Given the description of an element on the screen output the (x, y) to click on. 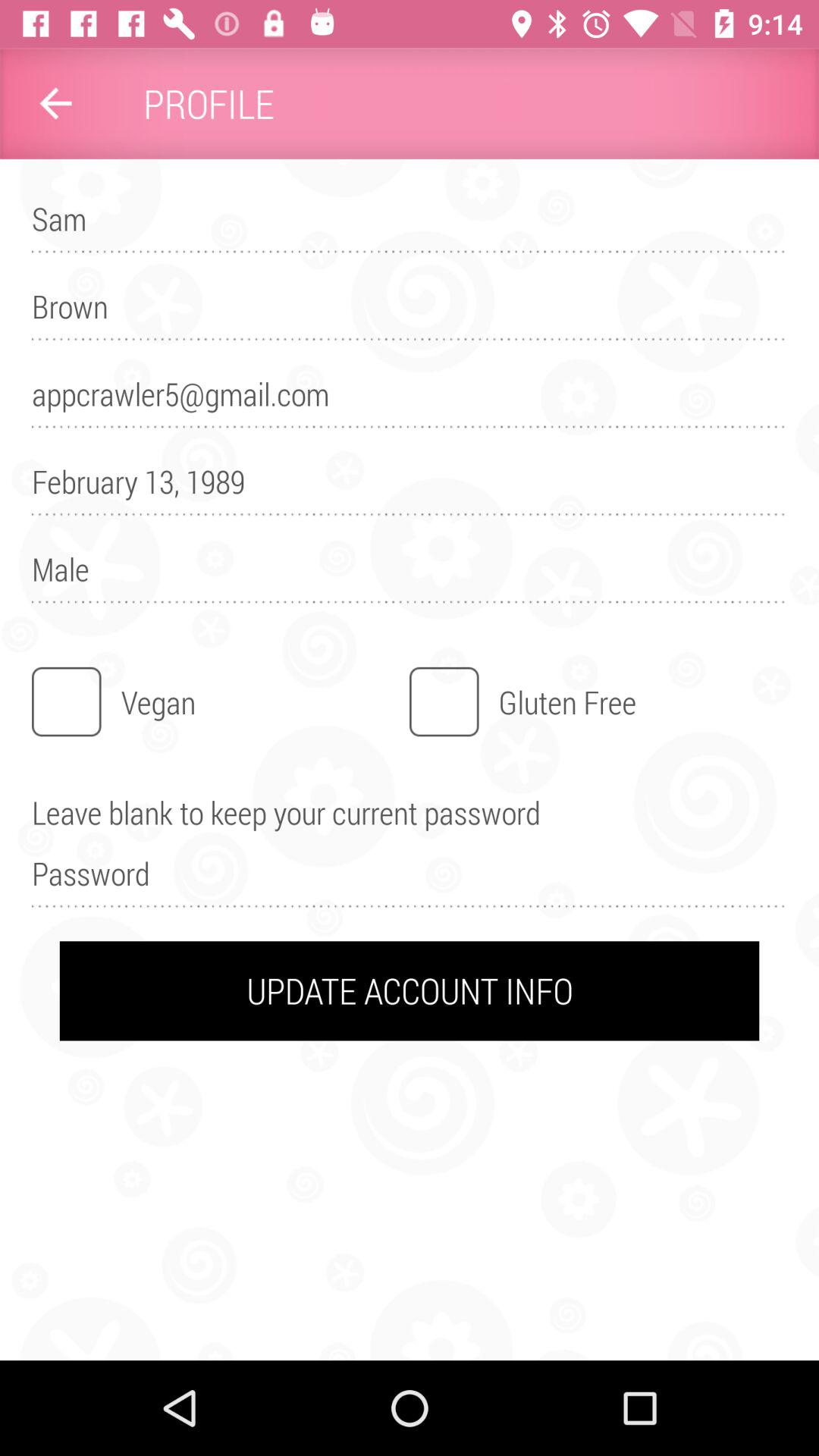
select the item above the february 13, 1989 (409, 400)
